Given the description of an element on the screen output the (x, y) to click on. 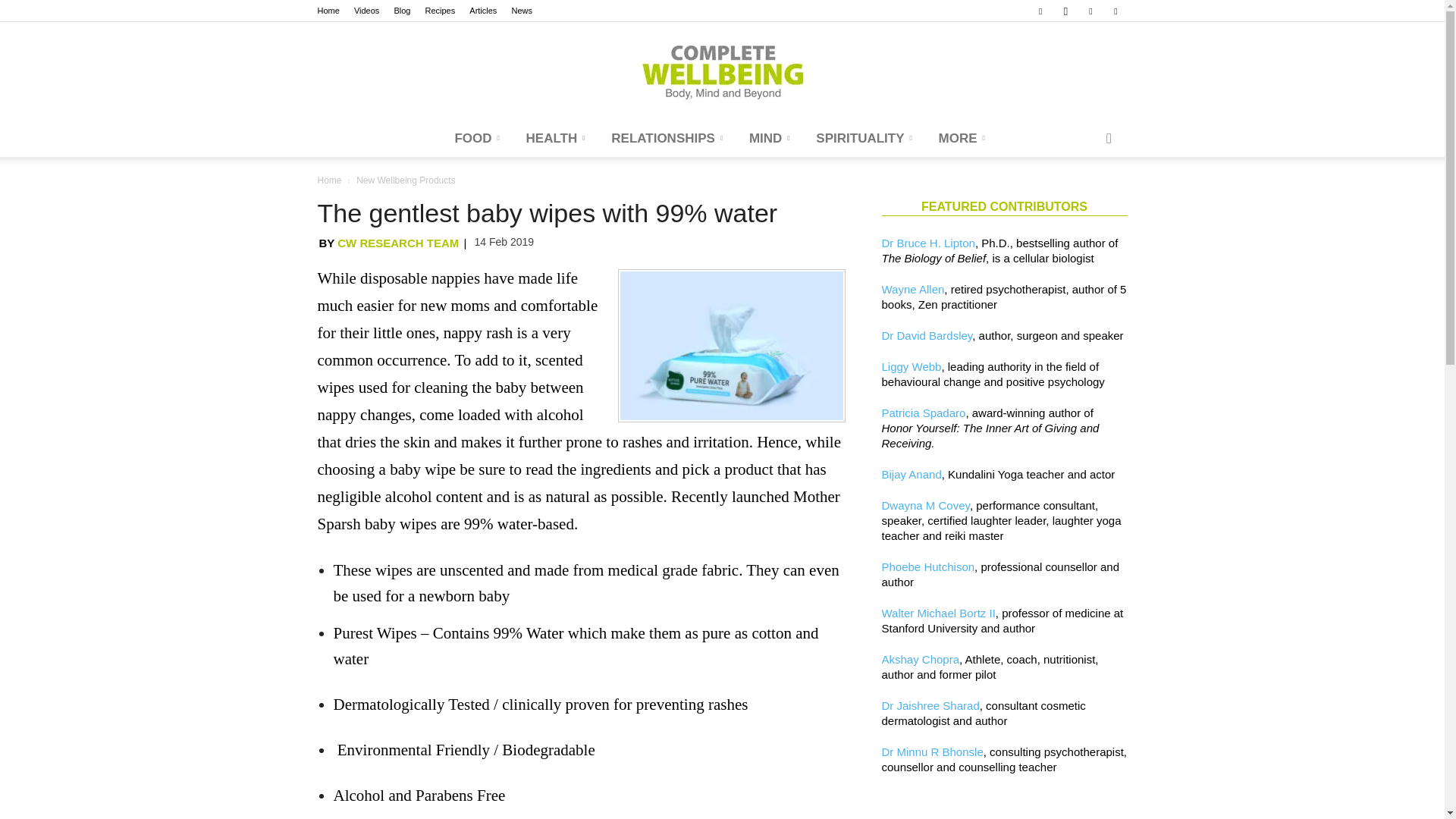
BODY, MIND AND BEYOND (721, 71)
Pinterest (1090, 10)
Recipes (439, 10)
Home (328, 10)
Blog (401, 10)
Posts by CW Research Team (397, 242)
Videos (365, 10)
Facebook (1040, 10)
Instagram (1065, 10)
Twitter (1114, 10)
